Given the description of an element on the screen output the (x, y) to click on. 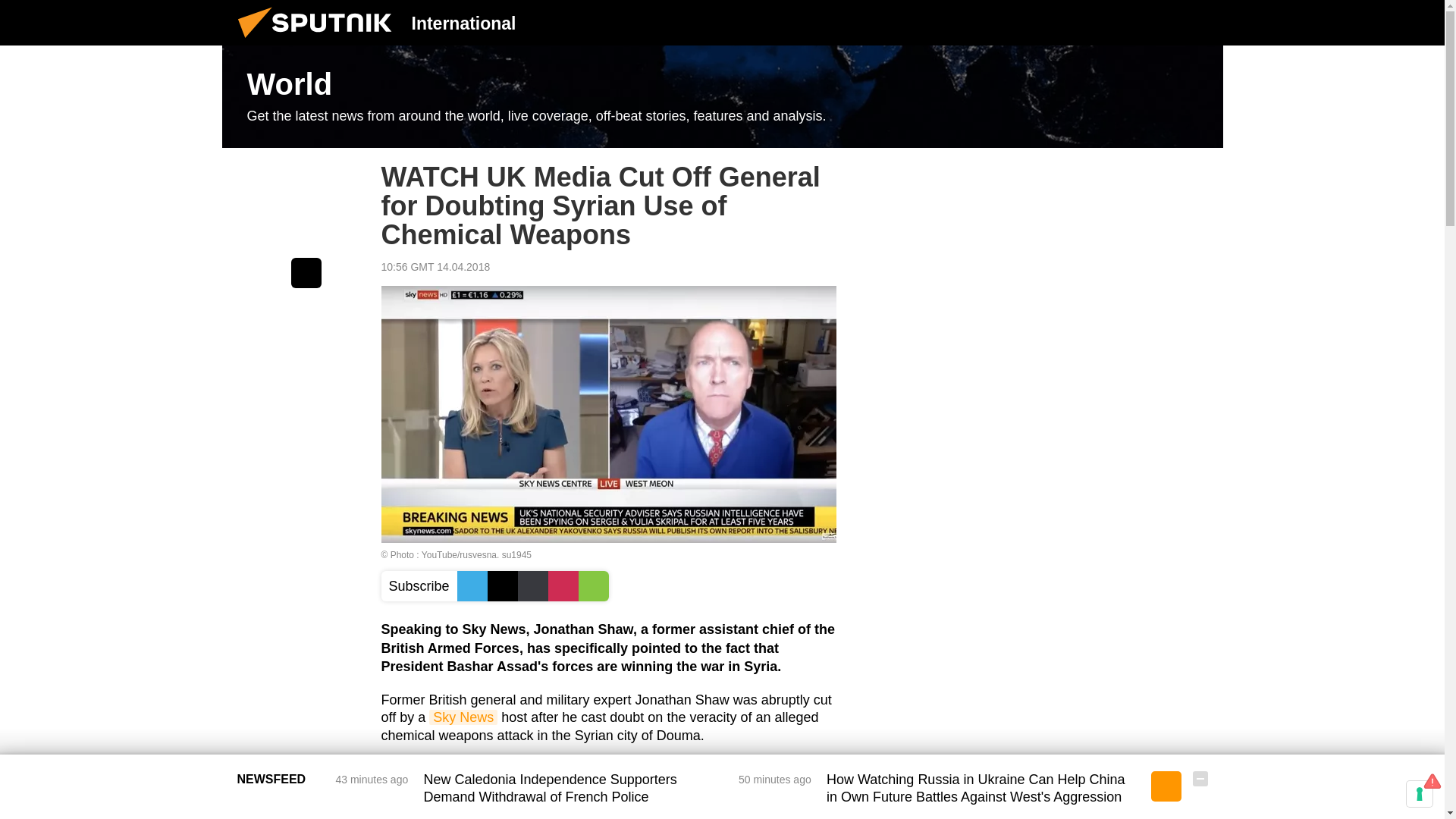
Sputnik International (319, 41)
Authorization (1123, 22)
Chats (1199, 22)
World (722, 96)
